Given the description of an element on the screen output the (x, y) to click on. 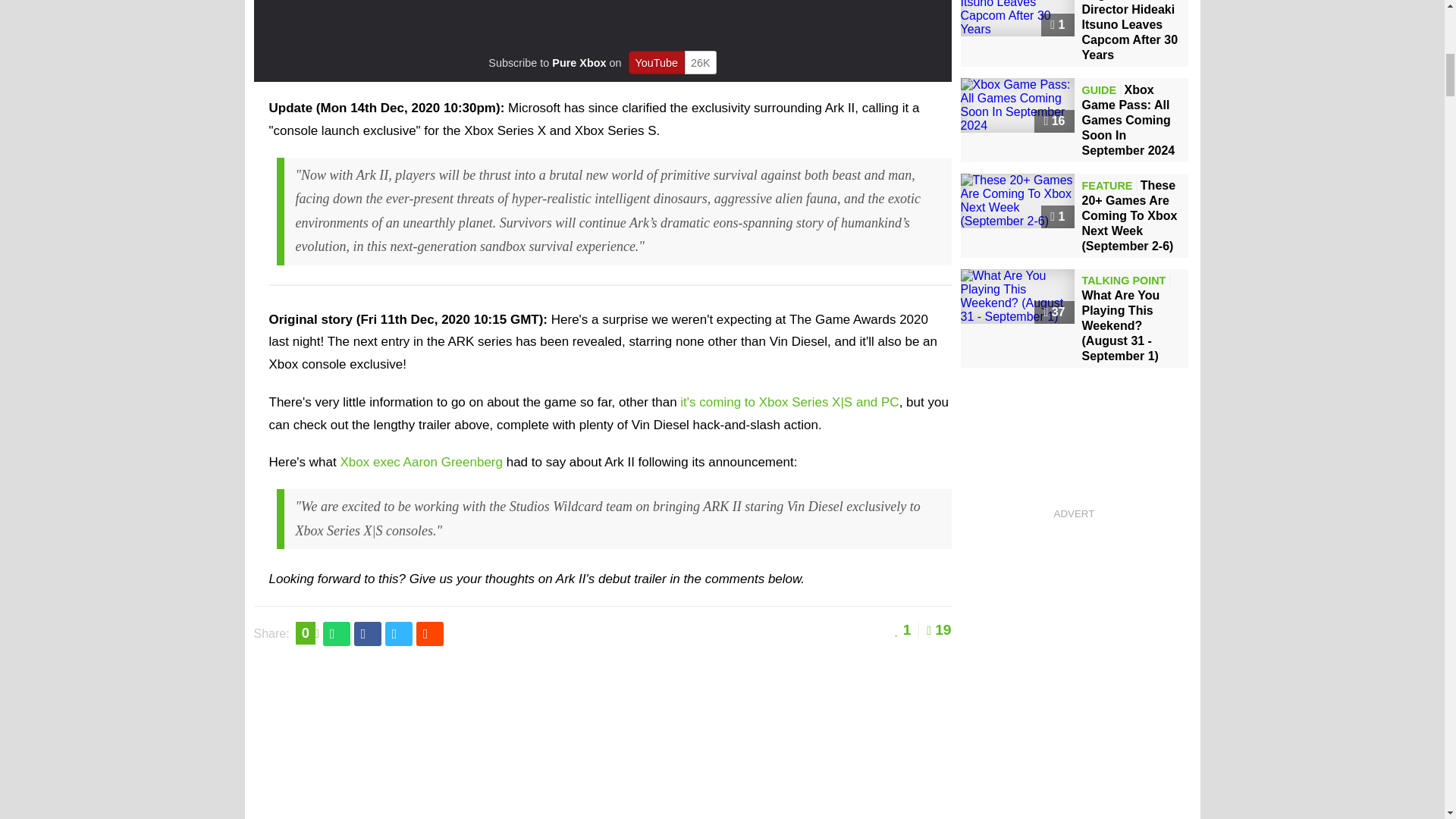
YouTube Video (602, 21)
Share this on Facebook (367, 633)
Share this on WhatsApp (336, 633)
Share this on Twitter (398, 633)
Share this on Reddit (430, 633)
Pure Xbox (578, 62)
